Given the description of an element on the screen output the (x, y) to click on. 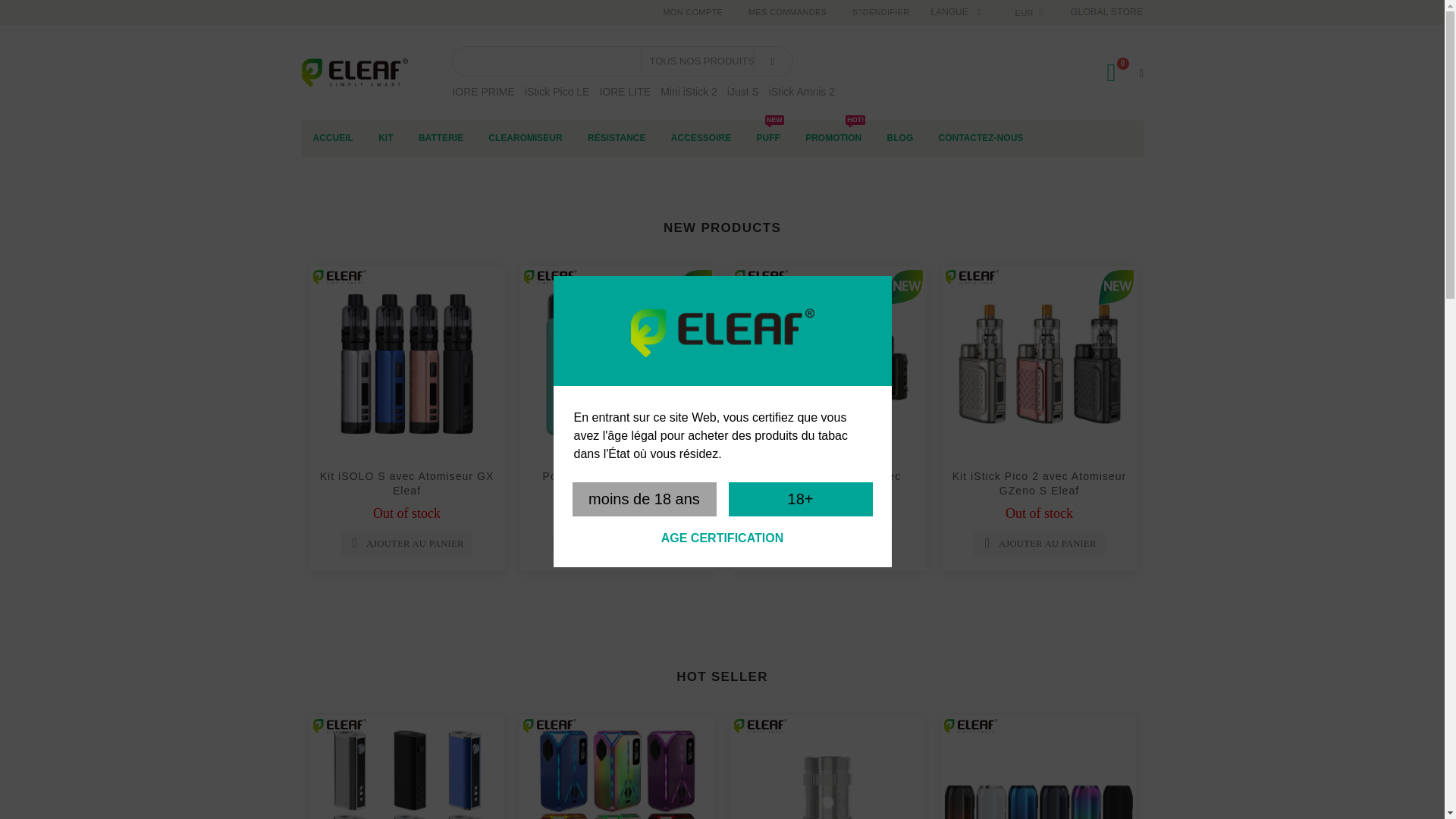
ACCUEIL (333, 138)
IORE LITE (624, 91)
IORE PRIME (482, 91)
KIT (385, 138)
Mes Commandes (787, 12)
Kit iSOLO S avec Atomiseur GX Eleaf (407, 483)
Kit iSOLO S avec Atomiseur GX Eleaf (406, 363)
ACCESSOIRE (700, 138)
MES COMMANDES (787, 12)
